Given the description of an element on the screen output the (x, y) to click on. 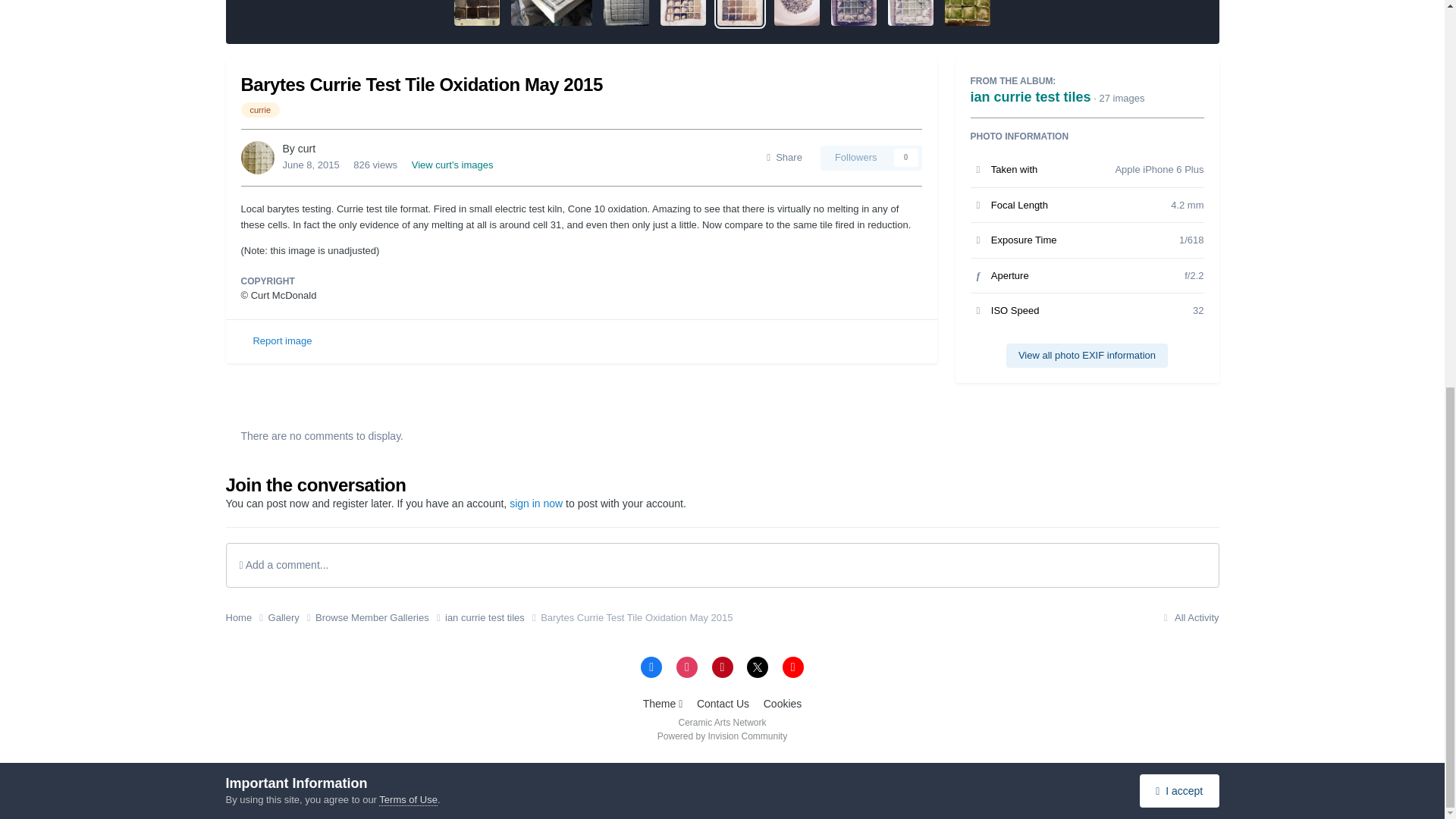
View the image Ash Basalt Currie tile AE adjusted (853, 12)
View the image Currie Tile Ash May 2015 Corner D (967, 12)
Go to curt's profile (306, 148)
View the image Barytes Currie Test Tile Reduction May 2015 (683, 12)
View the image Currie Tile Mold Whole Bat (551, 12)
View the image Barytes Currie Test Tile Oxidation May 2015 (739, 12)
Go to curt's profile (258, 157)
Find other content tagged with 'currie' (261, 109)
View the image Currie Tile Mold Close Up (626, 12)
